Given the description of an element on the screen output the (x, y) to click on. 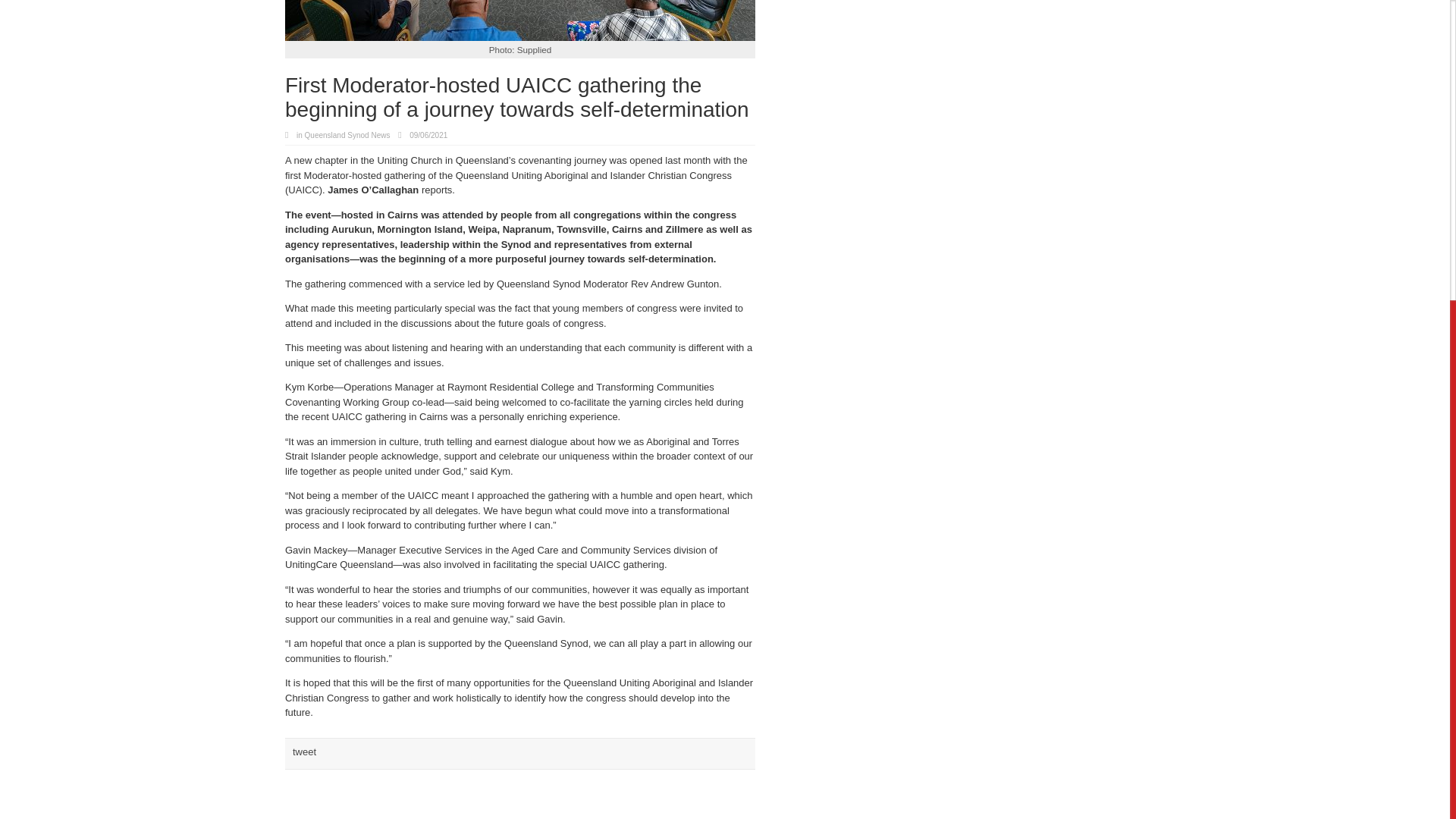
Queensland Synod News (347, 135)
tweet (303, 751)
